Given the description of an element on the screen output the (x, y) to click on. 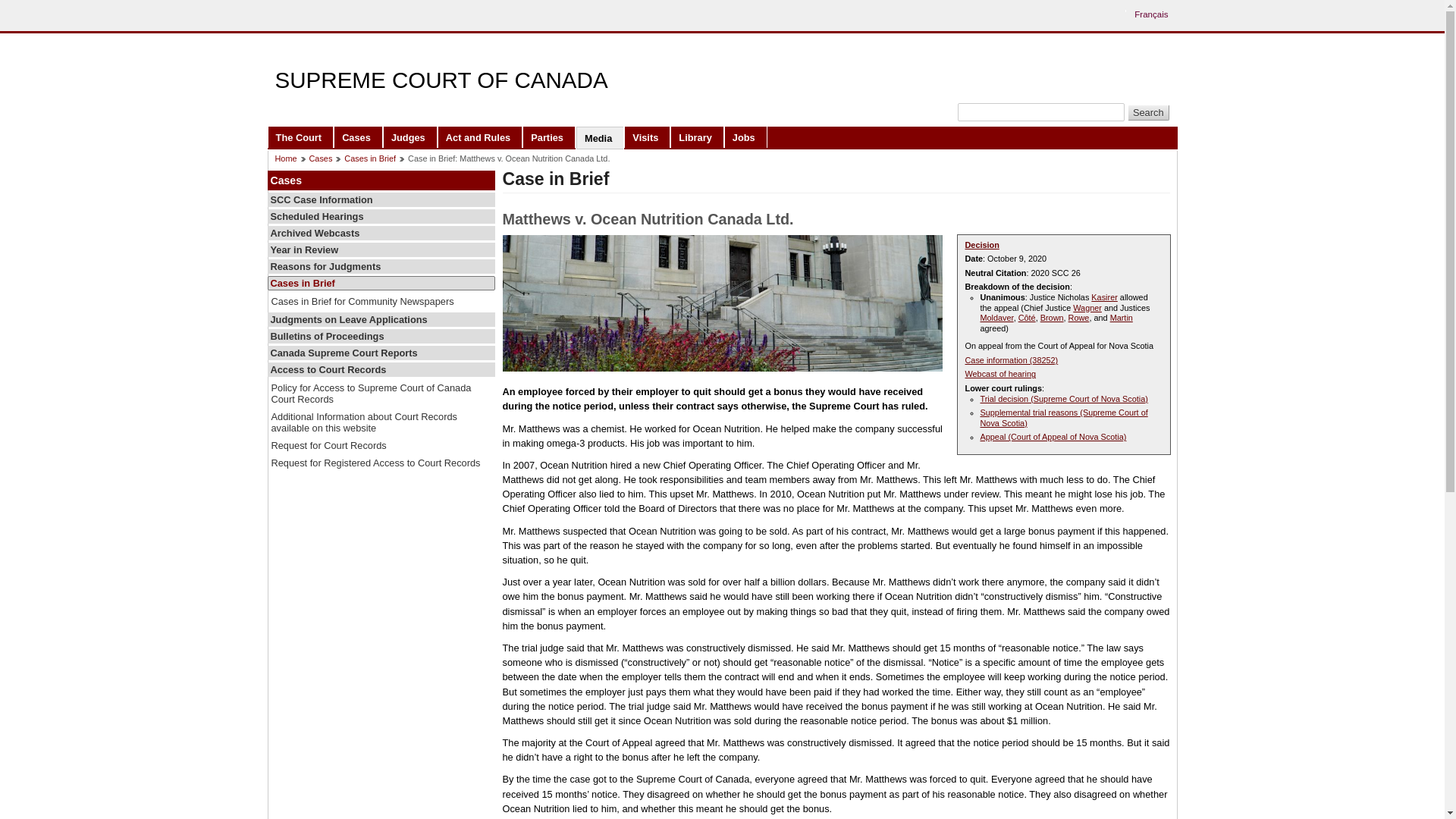
SUPREME COURT OF CANADA (441, 80)
Search (1147, 112)
Cases (357, 136)
Skip to main content (726, 11)
Search (1147, 112)
The Court (300, 136)
